Given the description of an element on the screen output the (x, y) to click on. 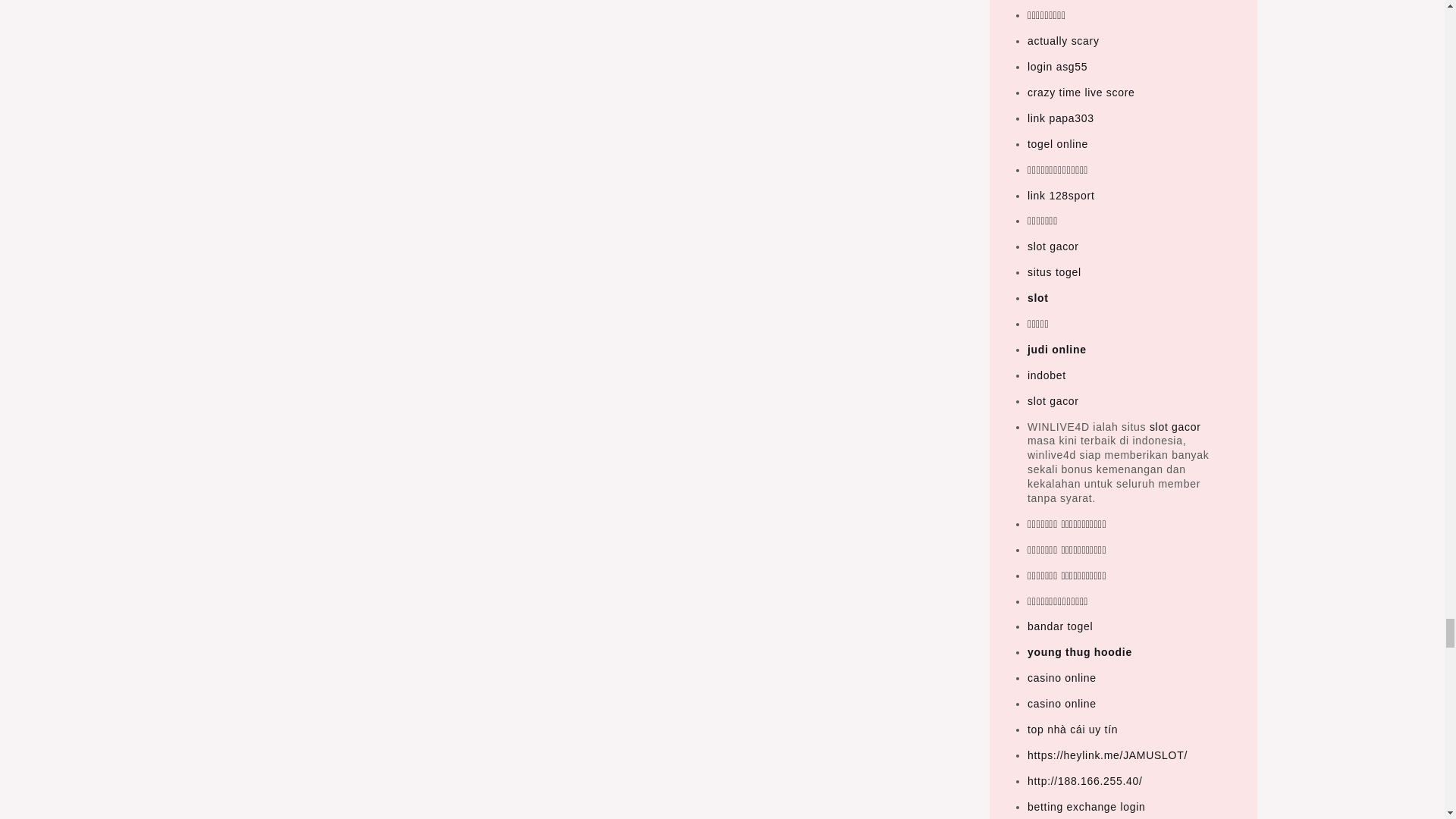
slot gacor (1175, 426)
